Given the description of an element on the screen output the (x, y) to click on. 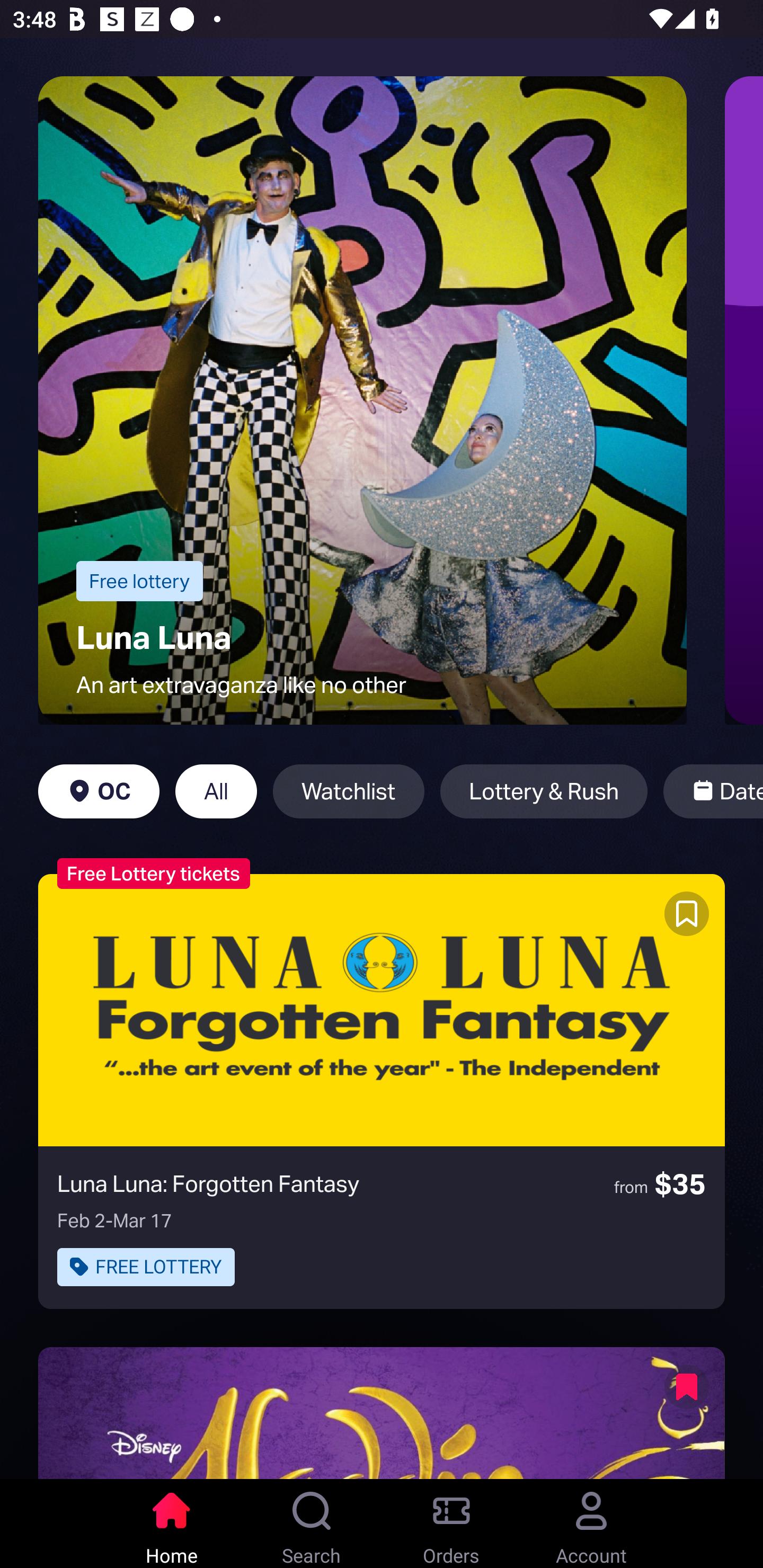
OC (98, 791)
All (216, 791)
Watchlist (348, 791)
Lottery & Rush (543, 791)
Search (311, 1523)
Orders (451, 1523)
Account (591, 1523)
